Given the description of an element on the screen output the (x, y) to click on. 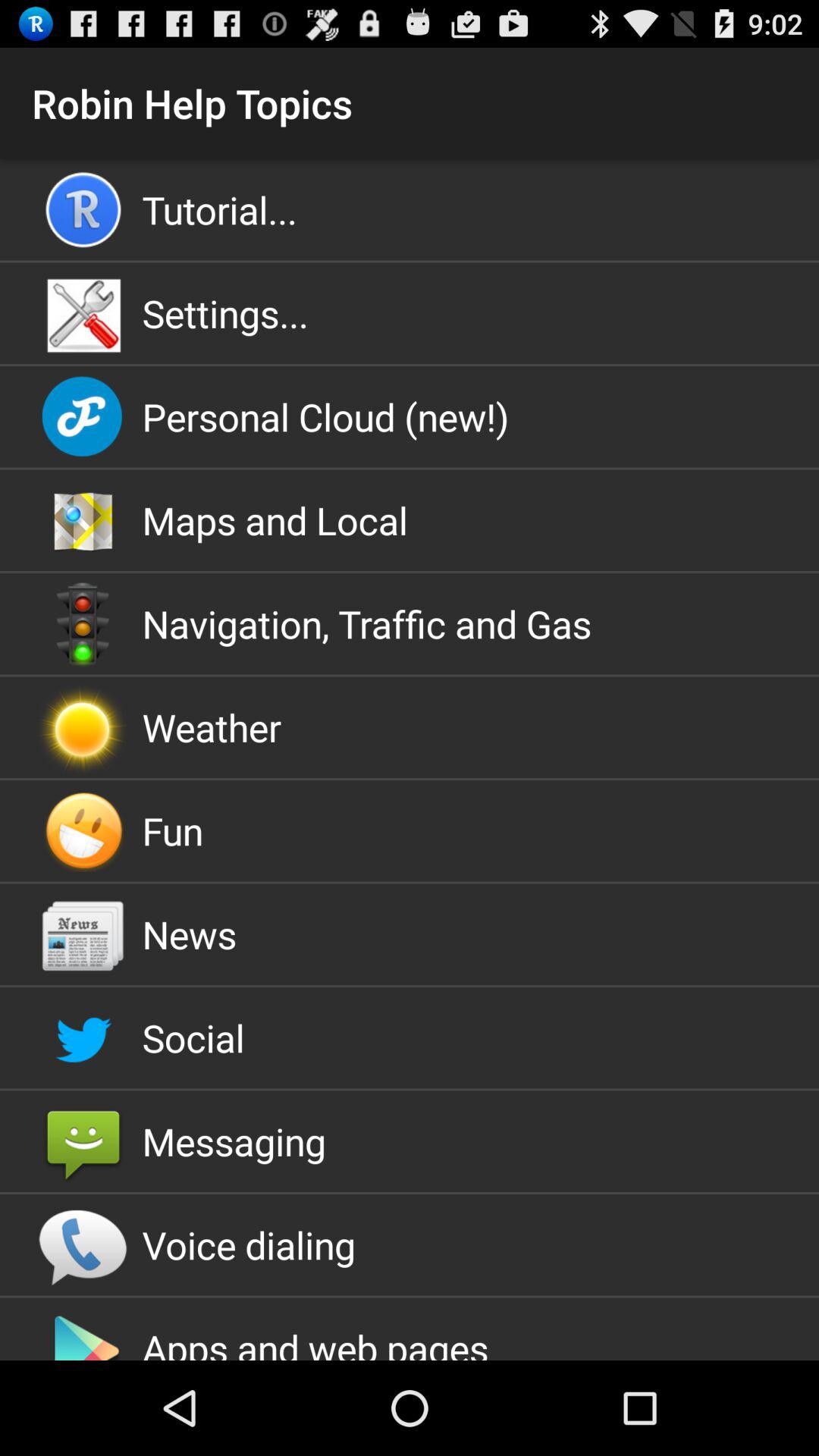
swipe to the  news (409, 934)
